Given the description of an element on the screen output the (x, y) to click on. 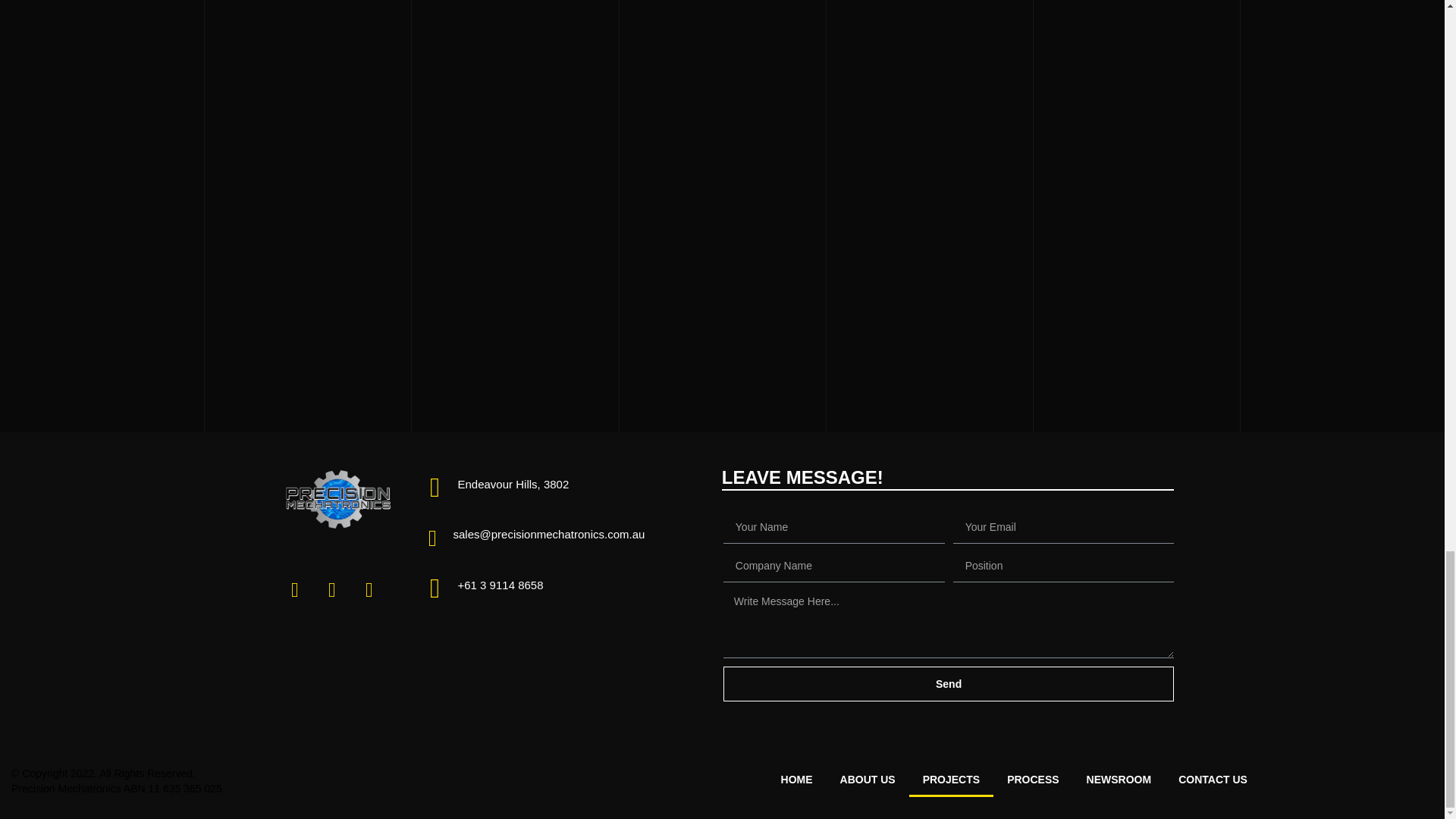
PROCESS (1031, 779)
PROJECTS (950, 779)
Send (948, 683)
CONTACT US (1212, 779)
ABOUT US (867, 779)
NEWSROOM (1119, 779)
HOME (797, 779)
